Given the description of an element on the screen output the (x, y) to click on. 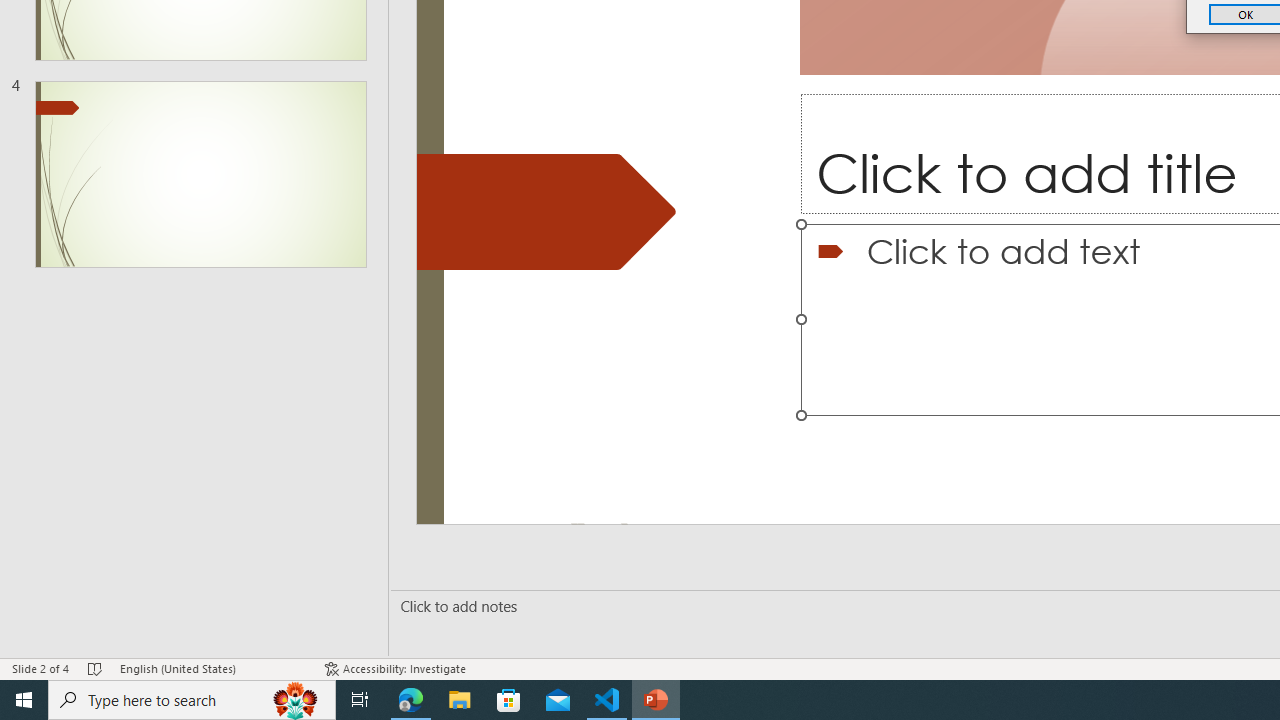
Decorative Locked (546, 212)
